Given the description of an element on the screen output the (x, y) to click on. 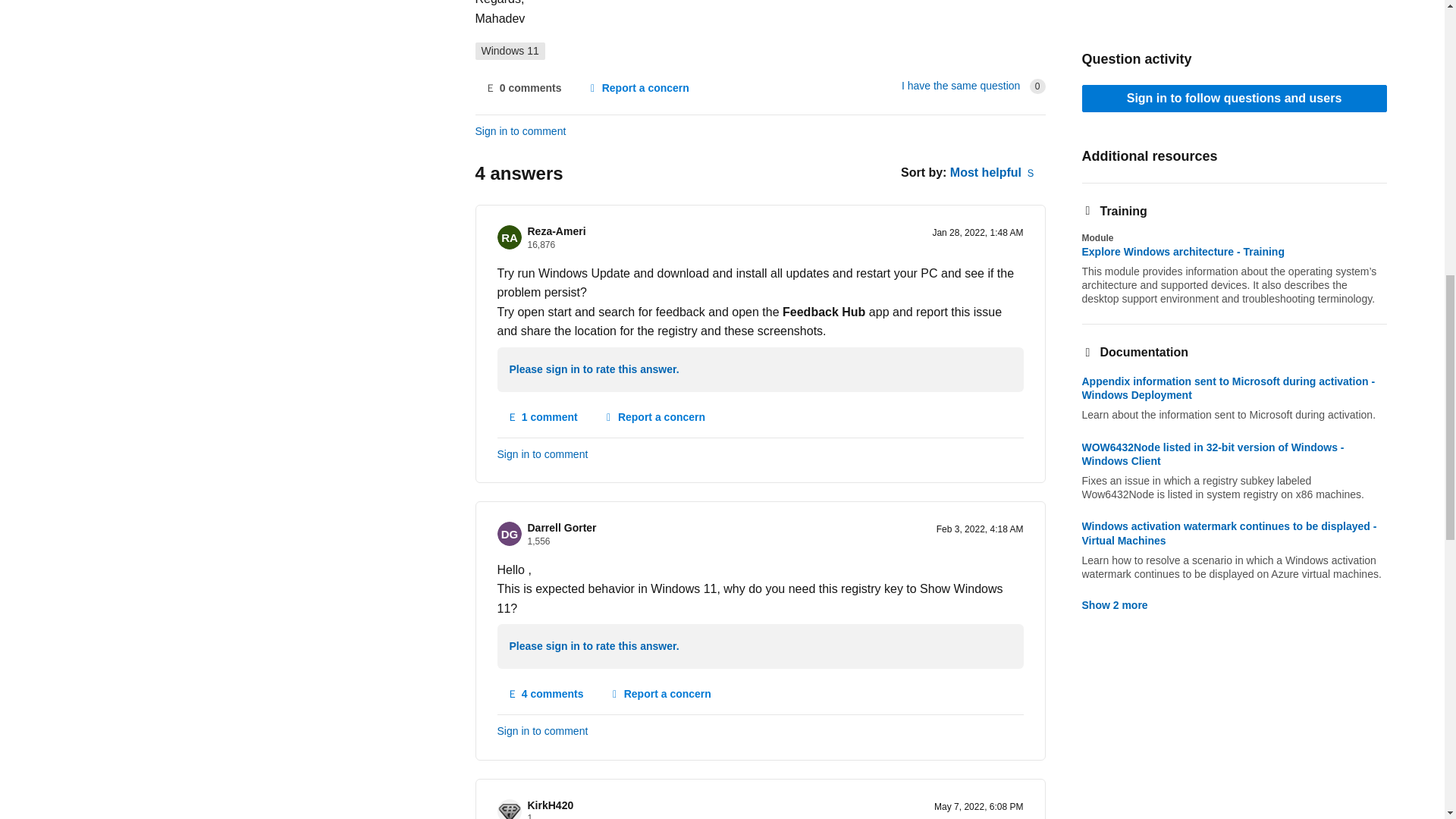
You have the same or similar question (960, 85)
Report a concern (637, 88)
Report a concern (654, 417)
Show comments for this answer (542, 417)
Reputation points (541, 244)
Reputation points (538, 541)
No comments (522, 88)
